Given the description of an element on the screen output the (x, y) to click on. 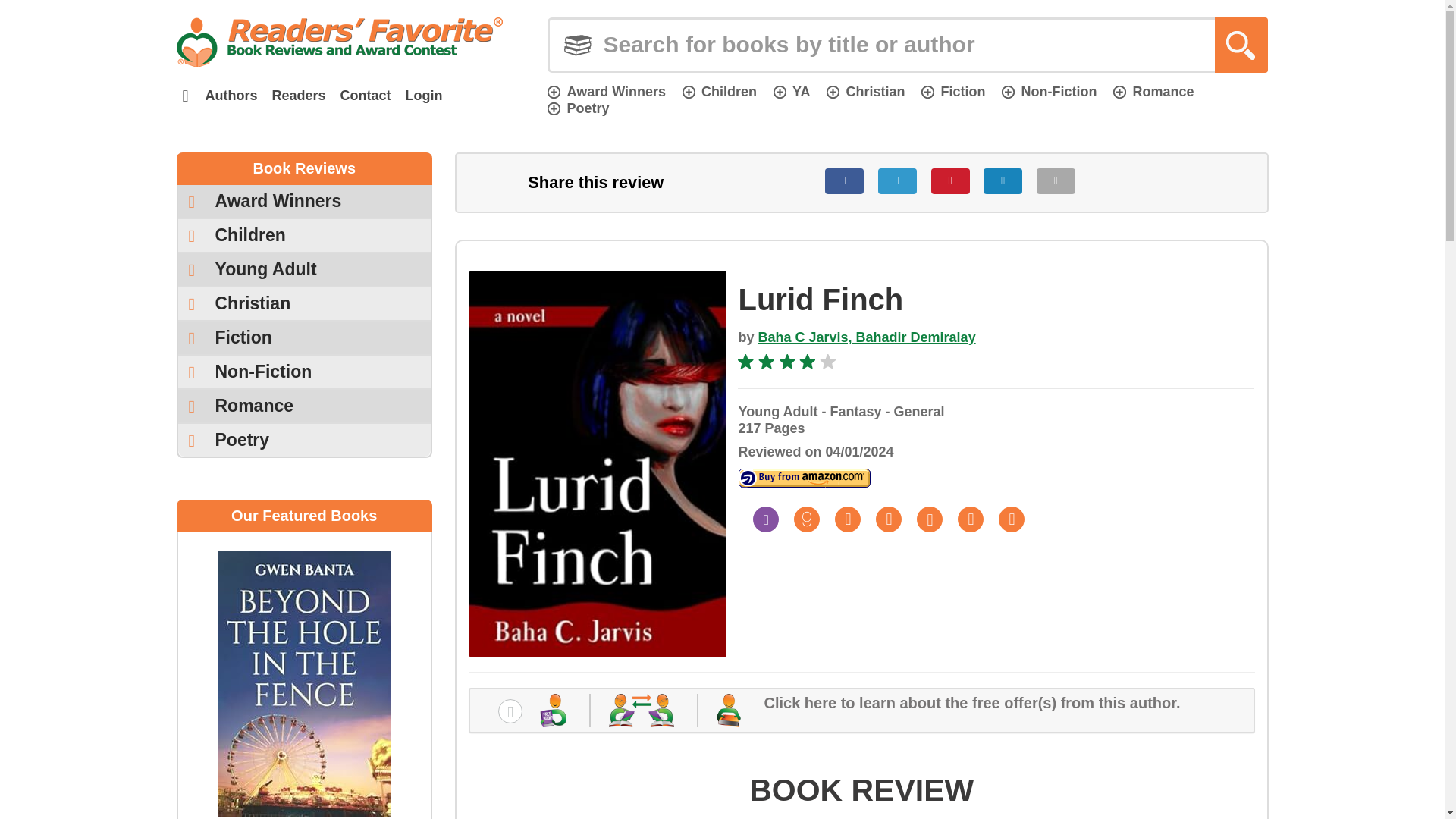
Award Winners (606, 91)
Romance (1153, 91)
Children (719, 91)
Christian (865, 91)
Contact (365, 96)
Poetry (577, 108)
YA (791, 91)
Login (423, 96)
Fiction (953, 91)
Award Winners (303, 202)
Readers (297, 96)
Readers' Favorite (339, 42)
Non-Fiction (1048, 91)
Authors (230, 96)
